Given the description of an element on the screen output the (x, y) to click on. 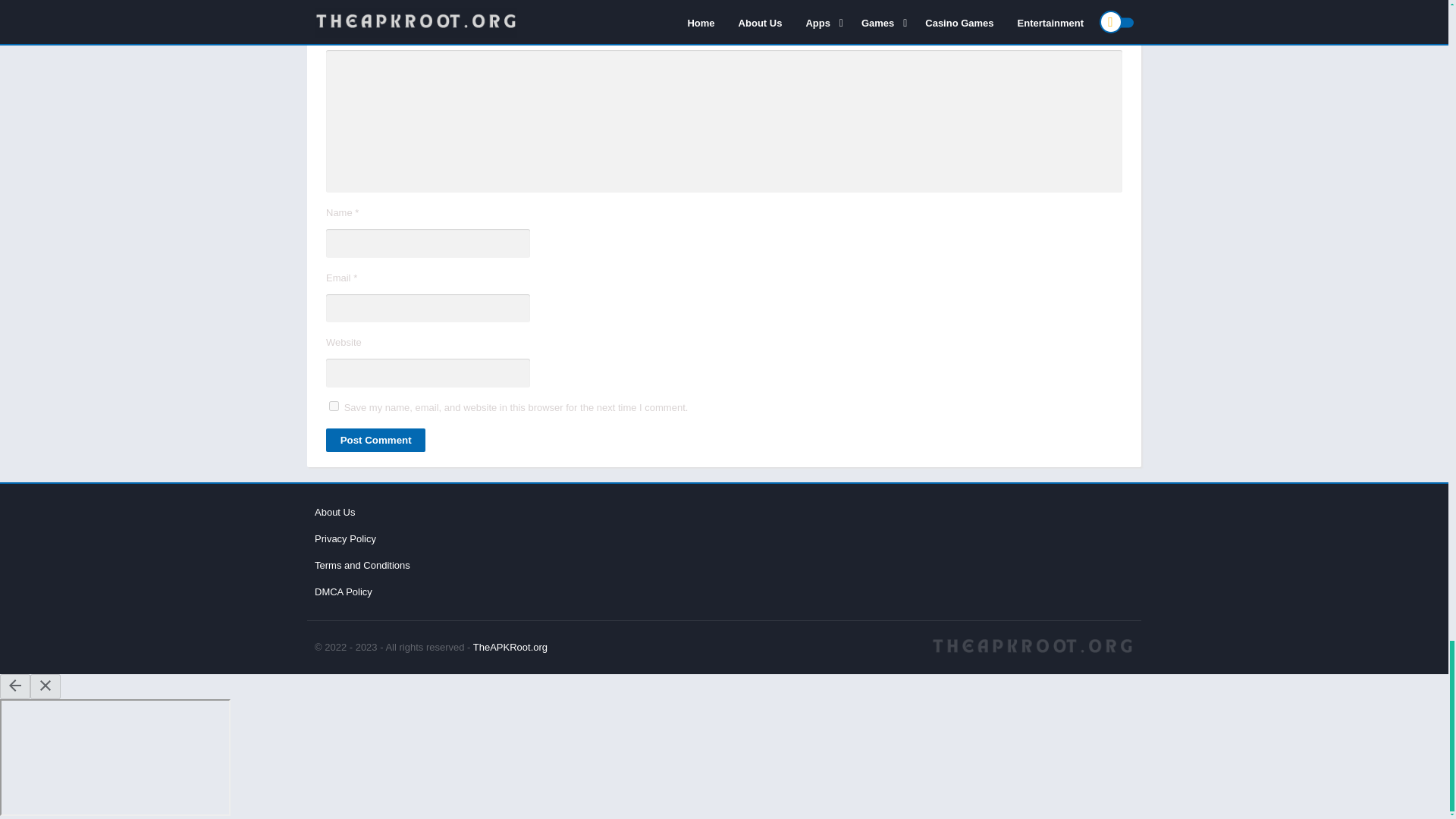
Post Comment (375, 440)
yes (334, 406)
